Given the description of an element on the screen output the (x, y) to click on. 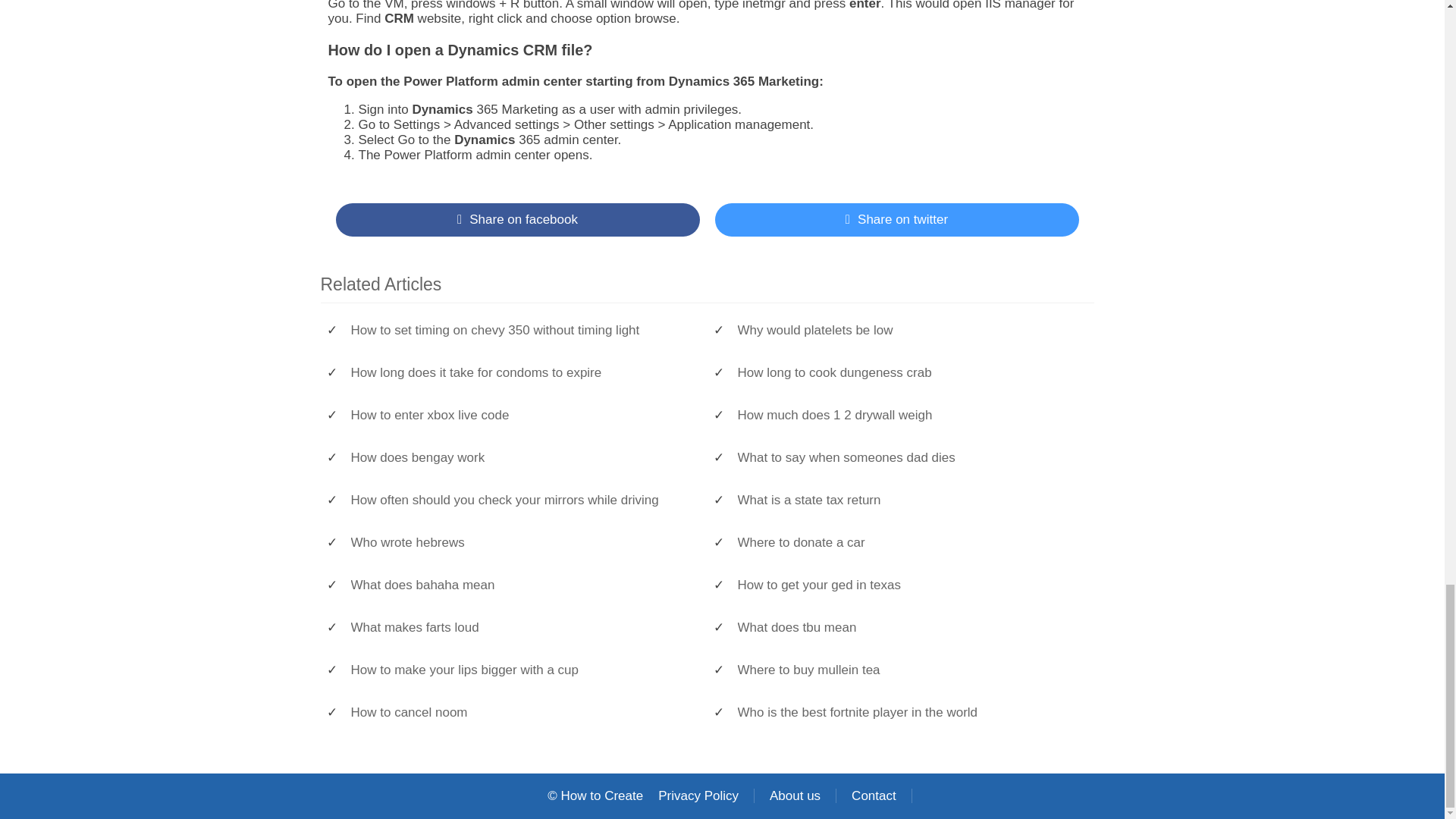
Share on facebook (516, 219)
How to cancel noom (520, 712)
Who is the best fortnite player in the world (907, 712)
How long does it take for condoms to expire (520, 372)
Where to donate a car (907, 542)
How much does 1 2 drywall weigh (907, 415)
What does tbu mean (907, 627)
How often should you check your mirrors while driving (520, 500)
Privacy Policy (698, 795)
How often should you check your mirrors while driving (520, 500)
